Given the description of an element on the screen output the (x, y) to click on. 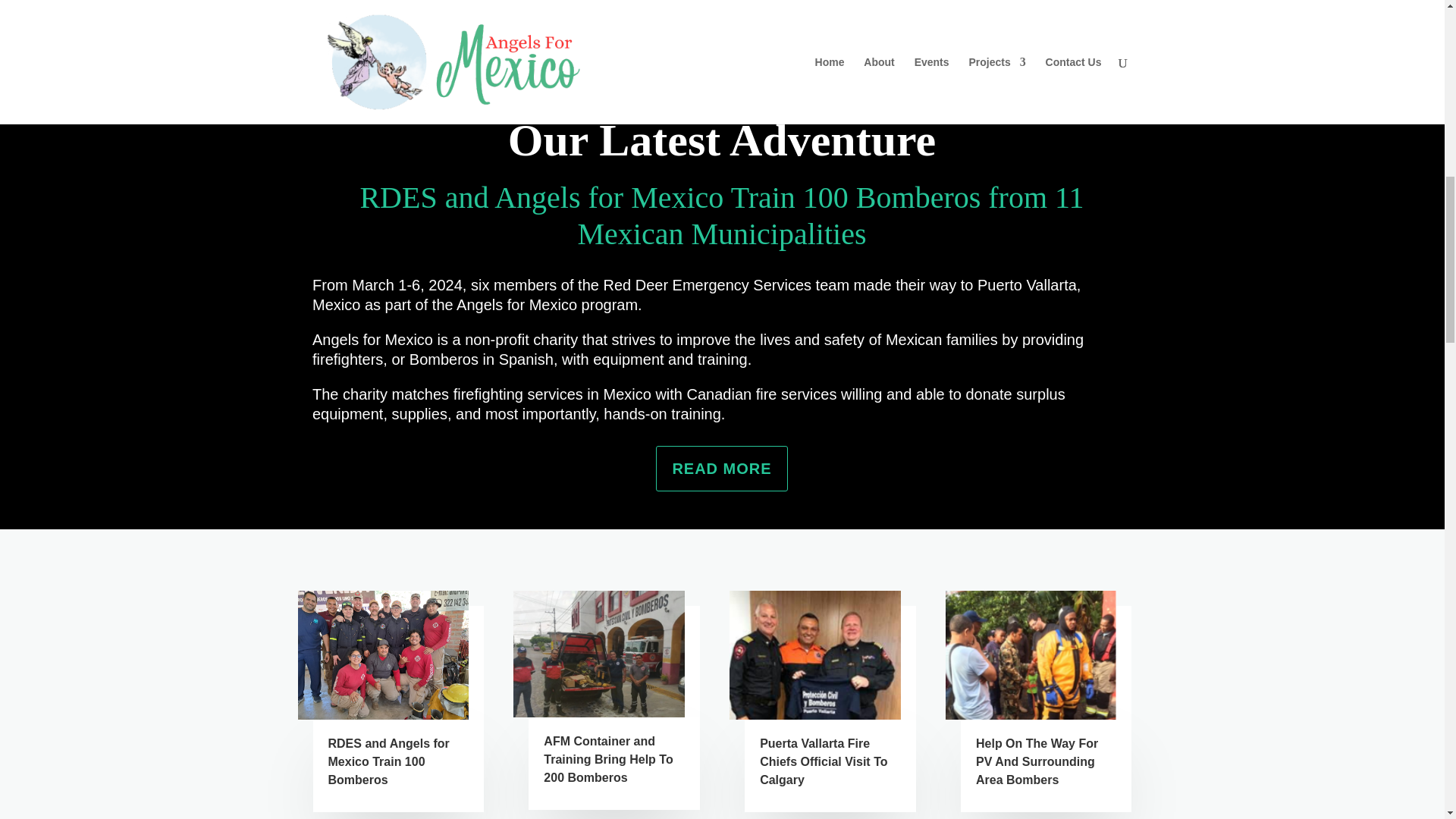
bomberos event 1 (598, 653)
DONATE NOW (1139, 29)
afm pic (814, 654)
IMG-20240305-WA0096 (382, 654)
READ MORE (721, 468)
